Given the description of an element on the screen output the (x, y) to click on. 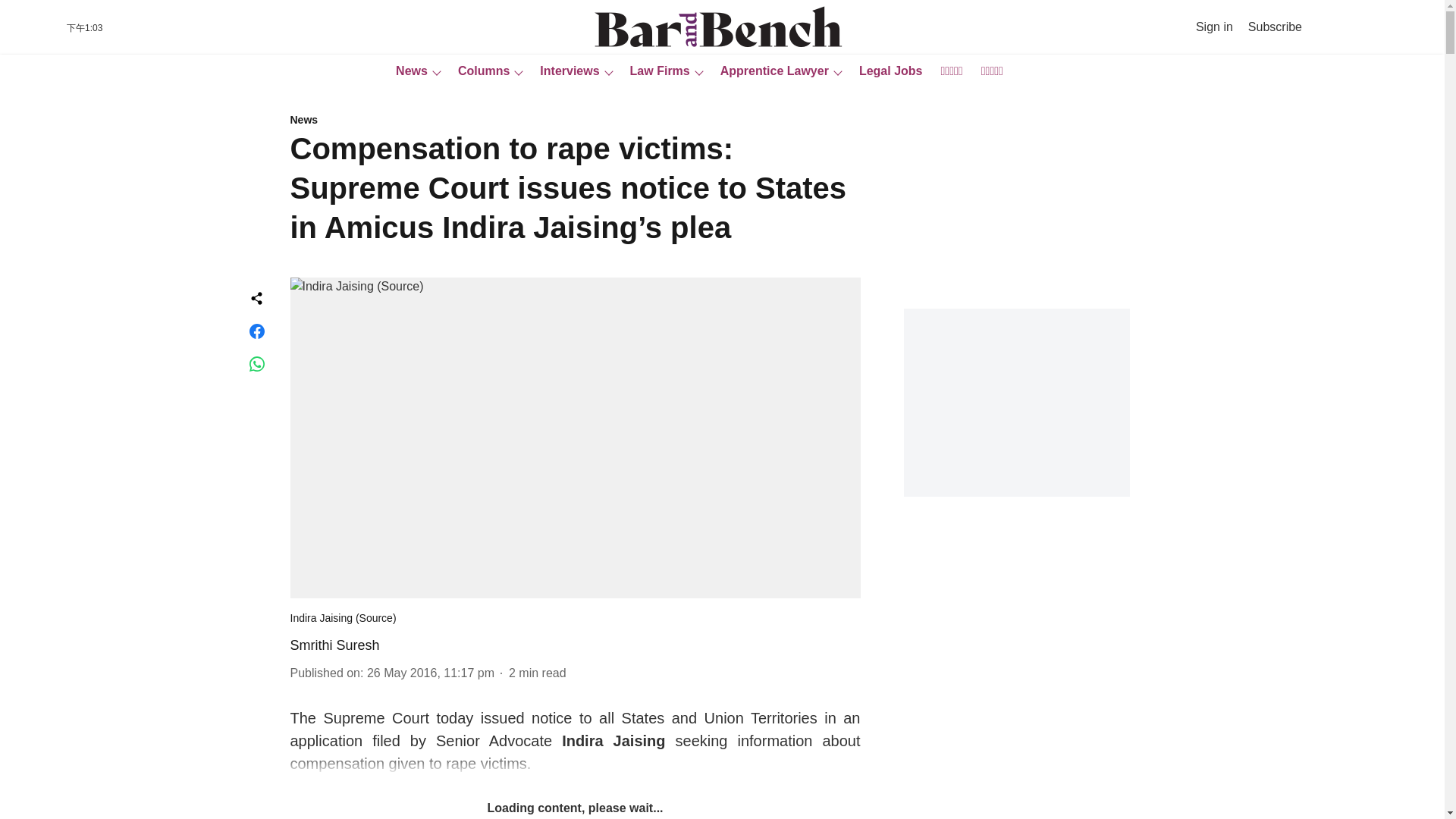
Columns (478, 71)
News (574, 120)
Legal Jobs (886, 71)
Apprentice Lawyer (769, 71)
Law Firms (655, 71)
Interviews (564, 71)
Smrithi Suresh (333, 645)
News (407, 71)
2016-05-26 15:17 (430, 672)
